Given the description of an element on the screen output the (x, y) to click on. 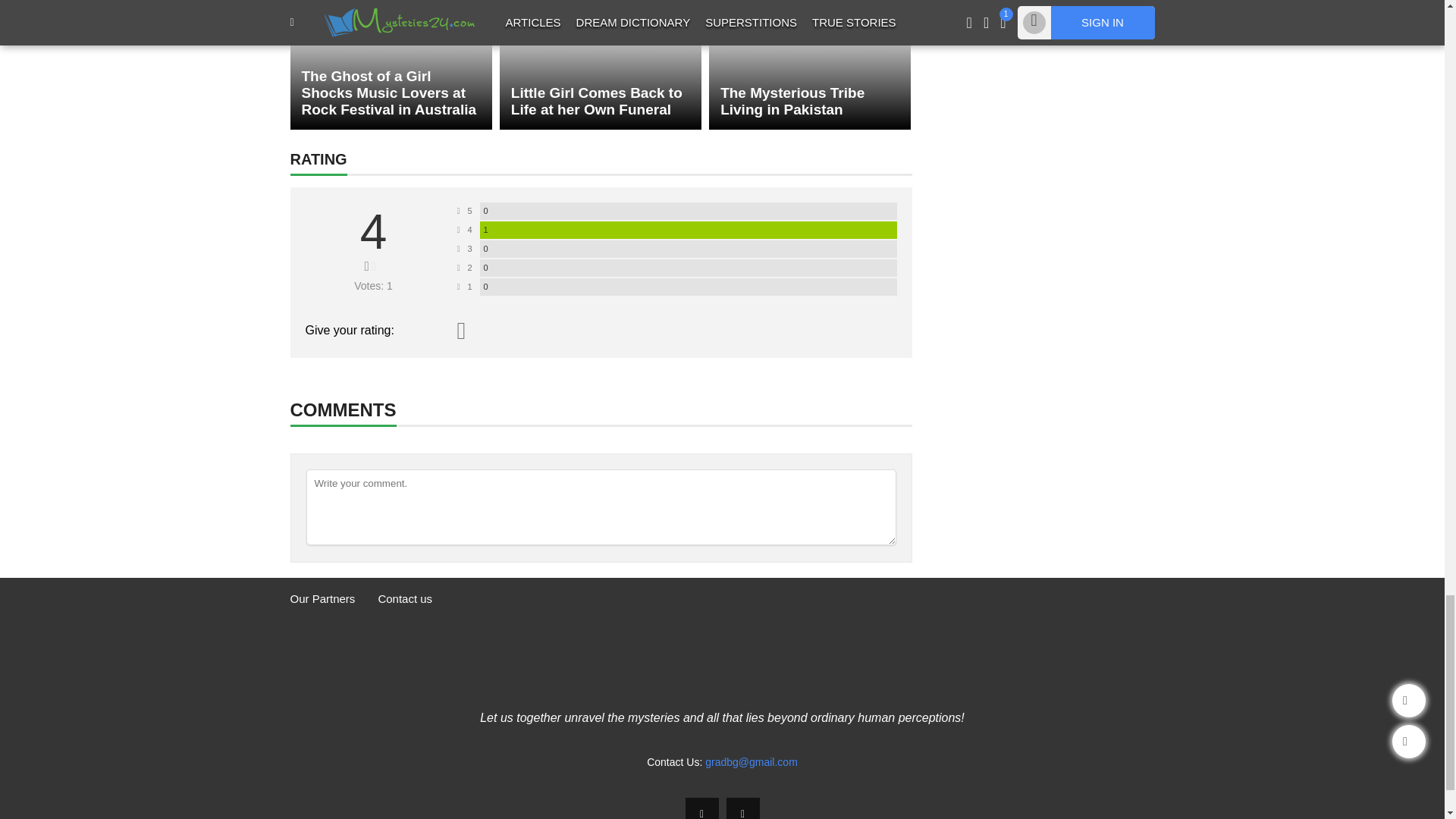
Facebook (702, 808)
RSS (743, 808)
The Mysterious Tribe Living in Pakistan (810, 64)
Little Girl Comes Back to Life at her Own Funeral (600, 64)
